Given the description of an element on the screen output the (x, y) to click on. 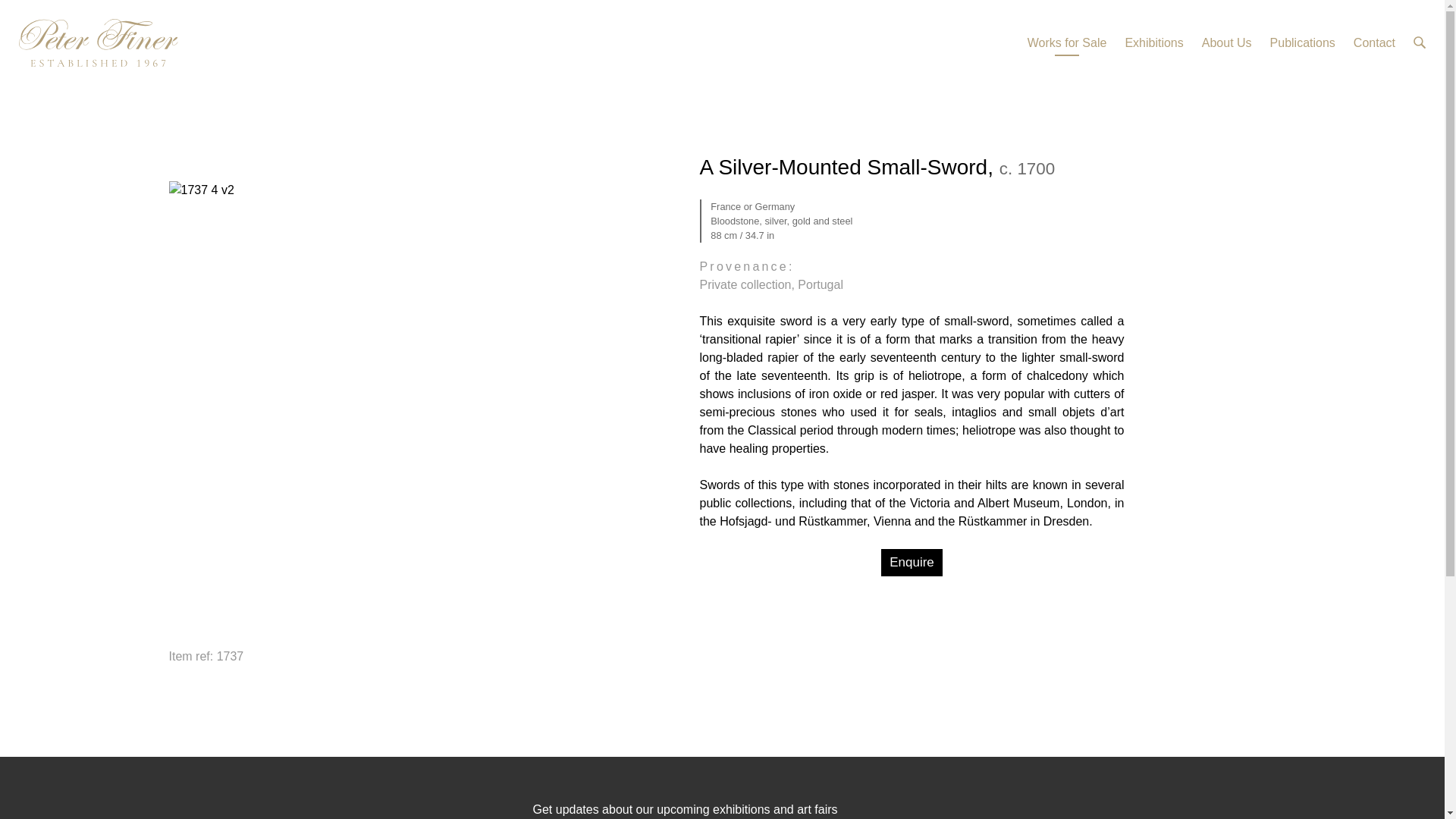
Works for Sale (1066, 43)
Enquire (911, 562)
Exhibitions (1153, 43)
About Us (1227, 43)
Publications (1302, 43)
Contact (1374, 43)
